Given the description of an element on the screen output the (x, y) to click on. 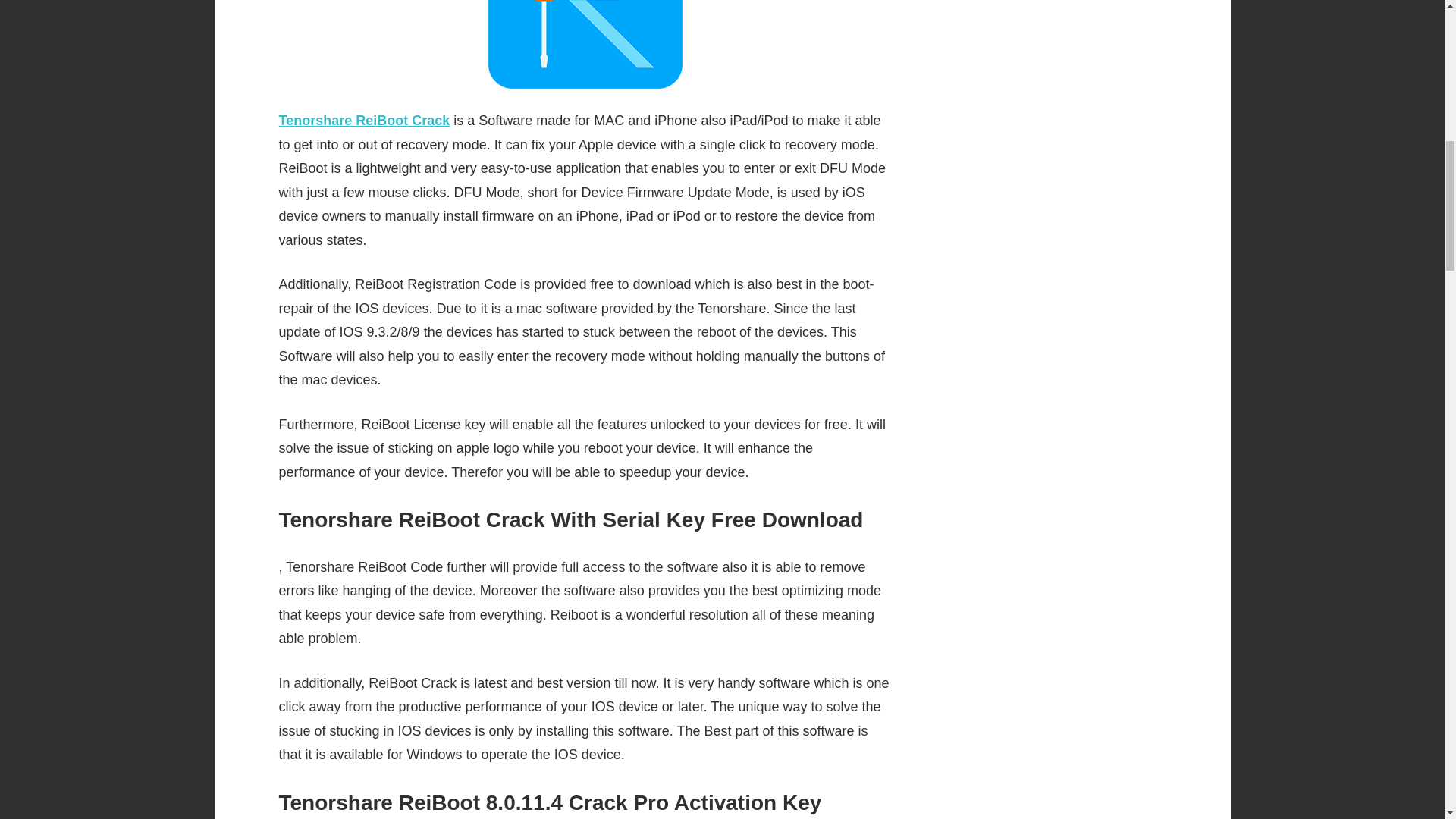
Tenorshare ReiBoot Crack (364, 120)
